Given the description of an element on the screen output the (x, y) to click on. 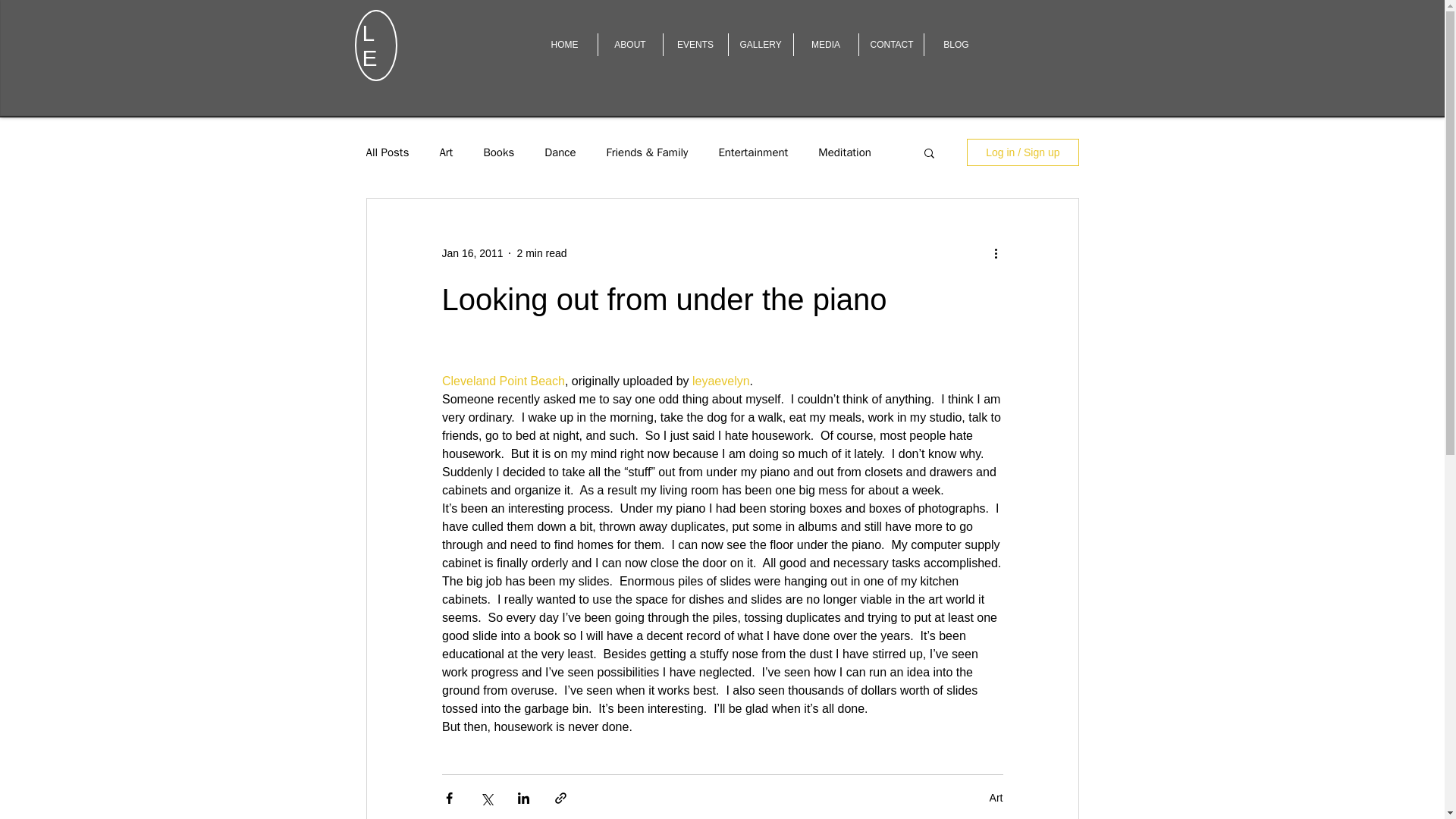
Cleveland Point Beach (502, 380)
Meditation (844, 152)
leyaevelyn (720, 380)
EVENTS (694, 44)
All Posts (387, 152)
Dance (559, 152)
Art (445, 152)
HOME (564, 44)
Entertainment (752, 152)
CONTACT (891, 44)
BLOG (955, 44)
GALLERY (760, 44)
ABOUT (629, 44)
Art (996, 797)
MEDIA (825, 44)
